Given the description of an element on the screen output the (x, y) to click on. 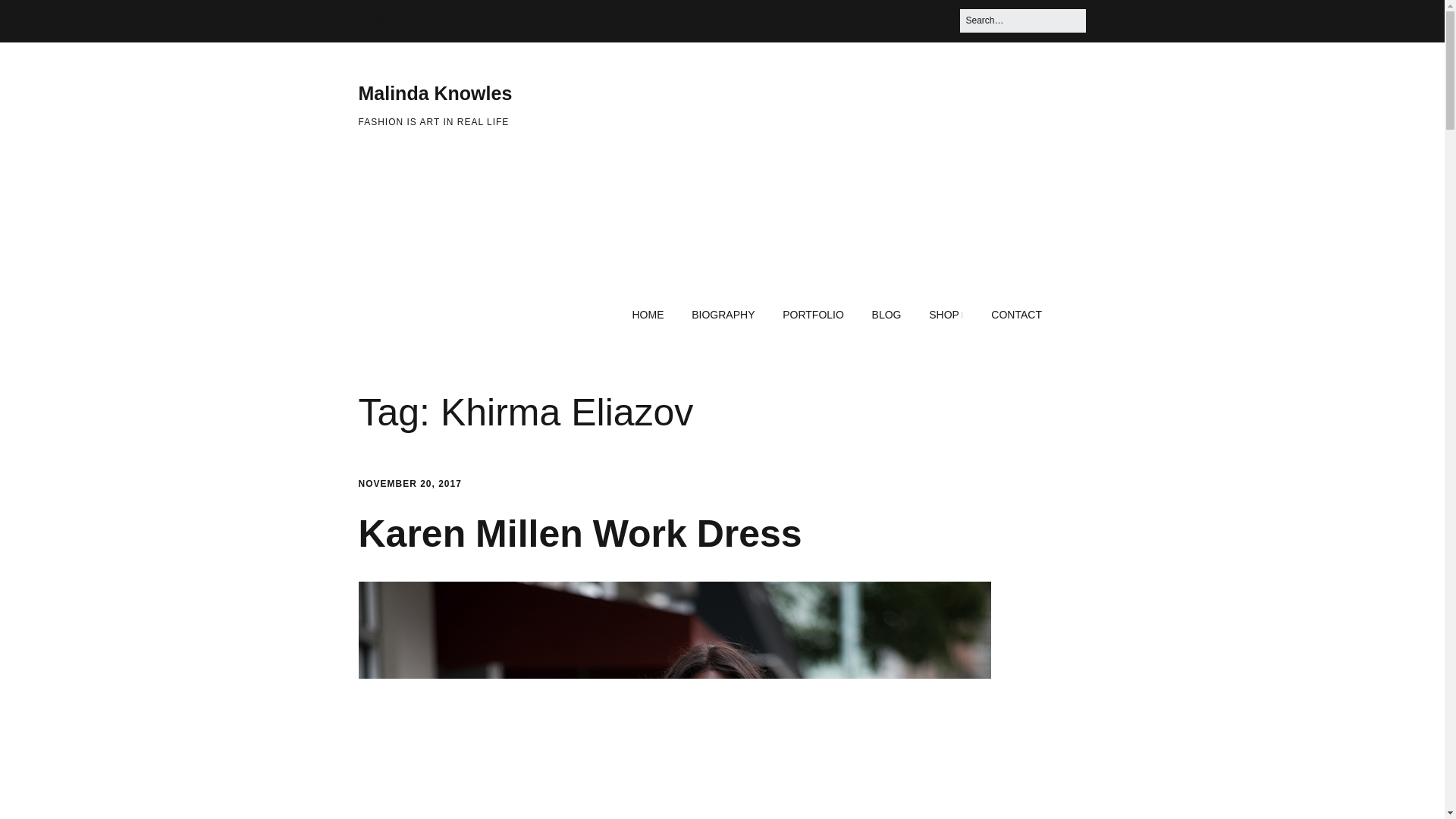
BLOG (887, 315)
Search (29, 16)
Malinda Knowles (435, 93)
CONTACT (1016, 315)
HOME (372, 21)
PORTFOLIO (505, 21)
biography (432, 21)
PORTFOLIO (813, 315)
BIOGRAPHY (723, 315)
CONTACT (660, 21)
